Given the description of an element on the screen output the (x, y) to click on. 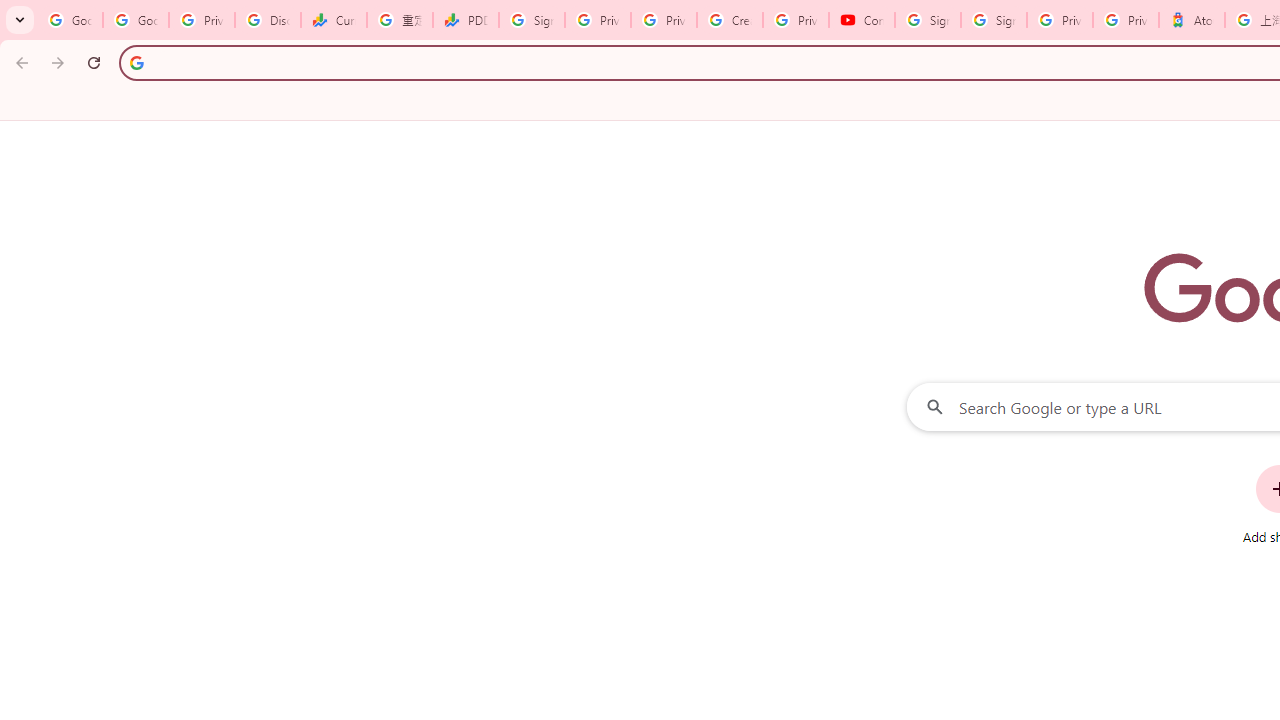
PDD Holdings Inc - ADR (PDD) Price & News - Google Finance (465, 20)
Sign in - Google Accounts (993, 20)
Content Creator Programs & Opportunities - YouTube Creators (861, 20)
Currencies - Google Finance (333, 20)
Create your Google Account (729, 20)
Atour Hotel - Google hotels (1191, 20)
